Given the description of an element on the screen output the (x, y) to click on. 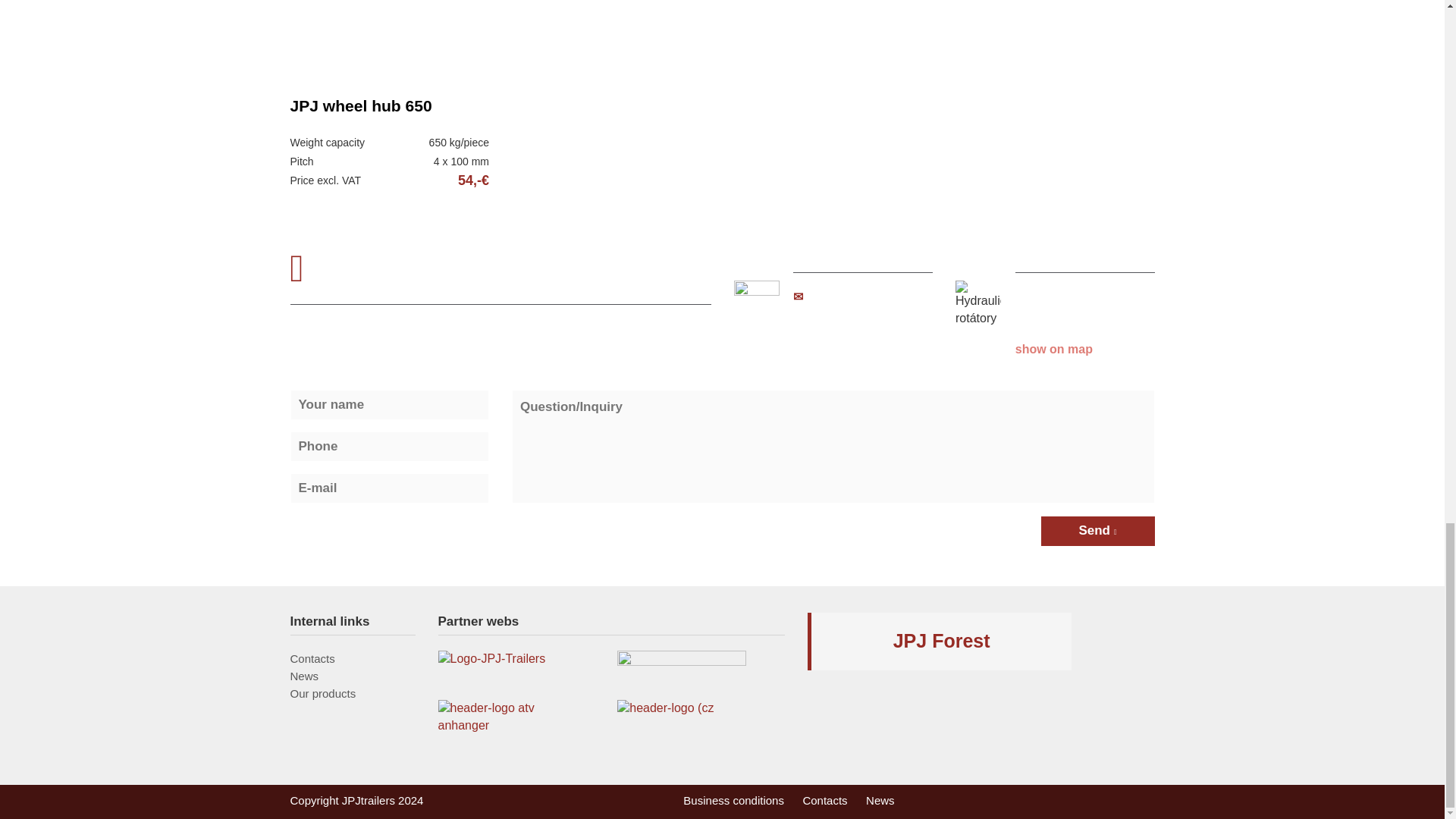
Twitter (1120, 681)
YouTube (1120, 623)
Pintarest (1120, 739)
